Given the description of an element on the screen output the (x, y) to click on. 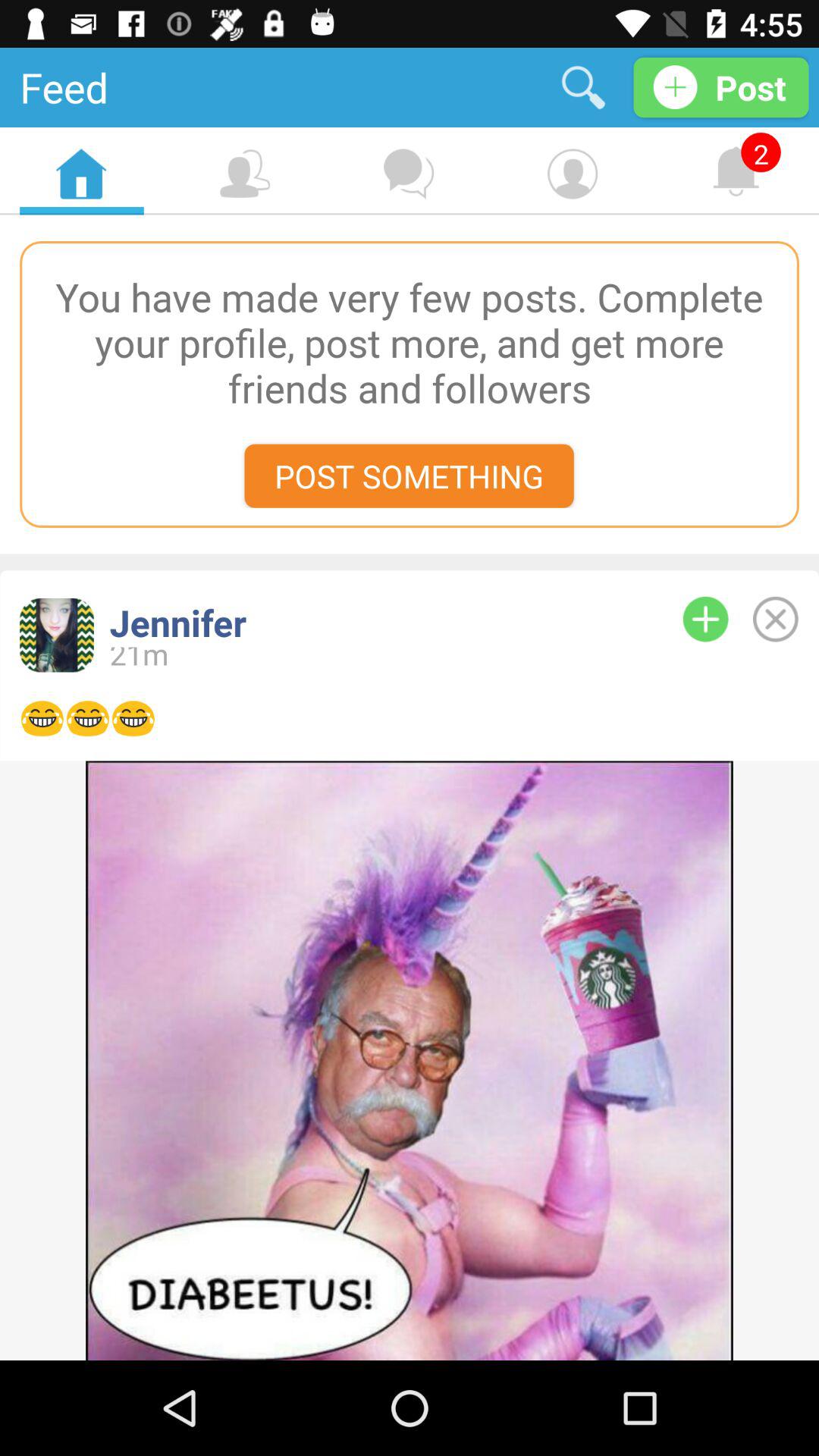
add new post (705, 619)
